Given the description of an element on the screen output the (x, y) to click on. 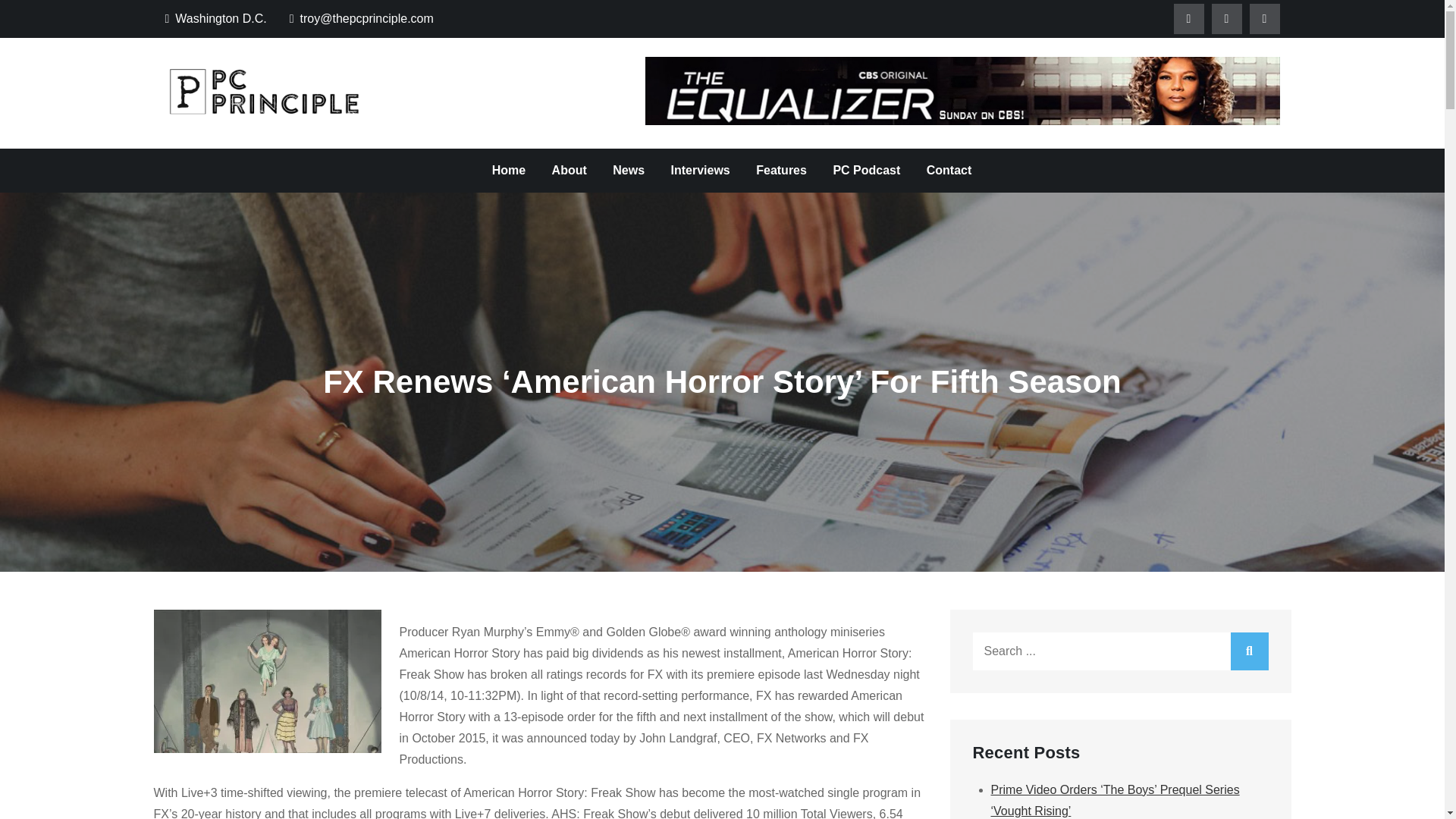
News (628, 170)
Interviews (700, 170)
About (569, 170)
Search for: (1120, 651)
Features (781, 170)
Search (1249, 651)
Pop Culture Principle (502, 108)
Contact (949, 170)
Home (508, 170)
PC Podcast (866, 170)
